Given the description of an element on the screen output the (x, y) to click on. 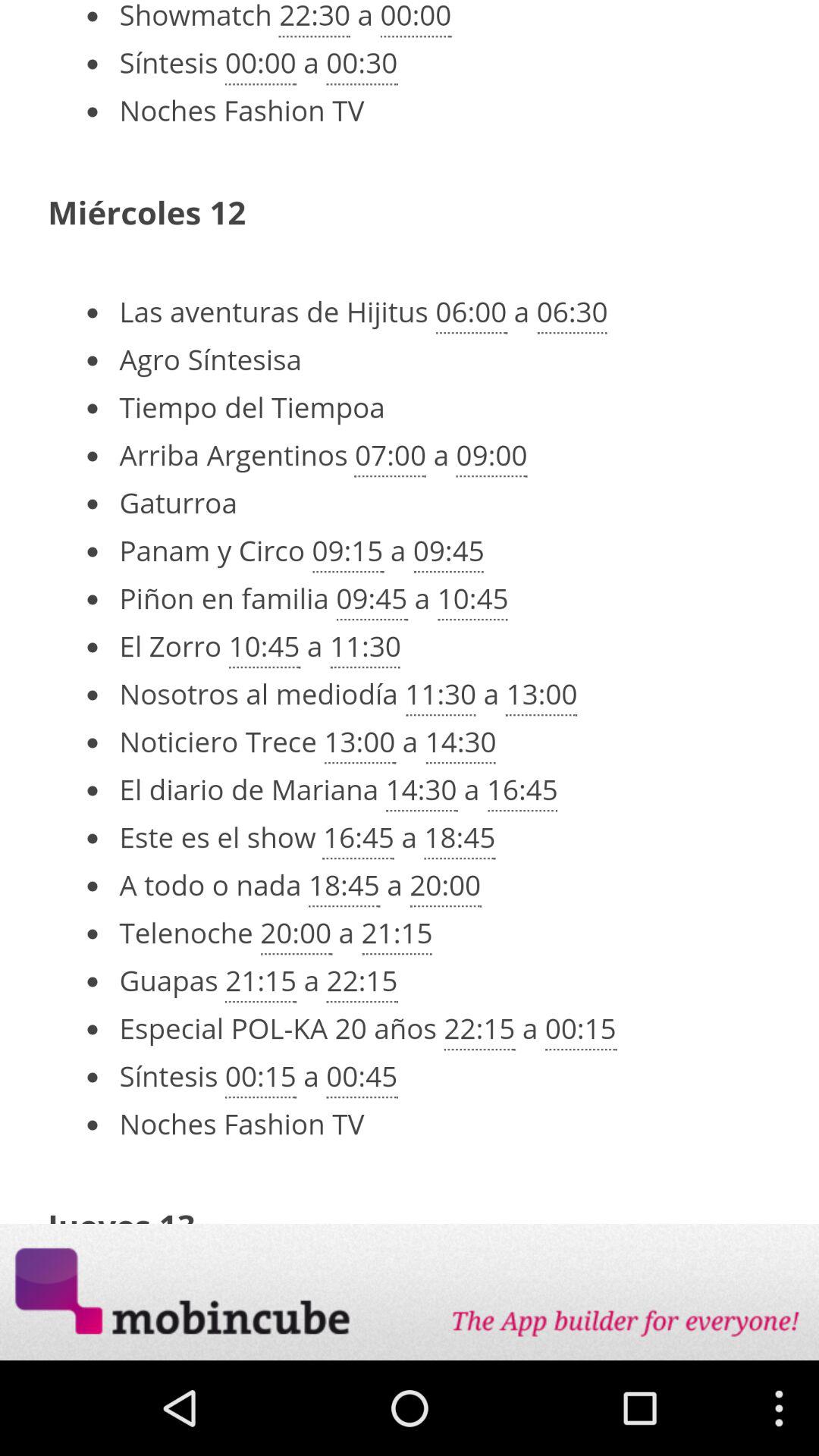
opens a advertisement (409, 1291)
